Given the description of an element on the screen output the (x, y) to click on. 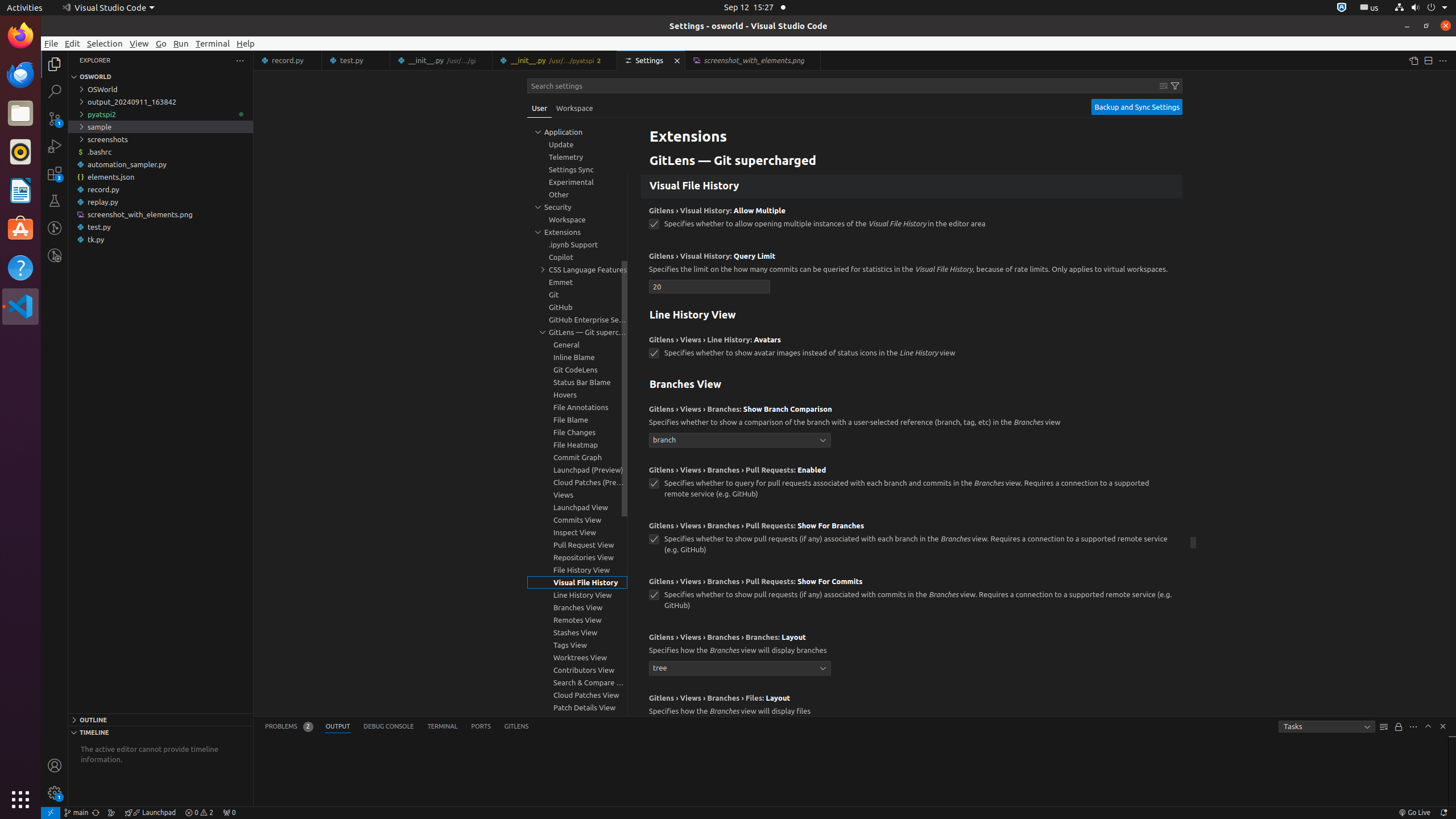
Update, group Element type: tree-item (577, 144)
Pull Request View, group Element type: tree-item (577, 544)
Firefox Web Browser Element type: push-button (20, 35)
.ipynb Support, group Element type: tree-item (577, 244)
File History View, group Element type: tree-item (577, 569)
